Given the description of an element on the screen output the (x, y) to click on. 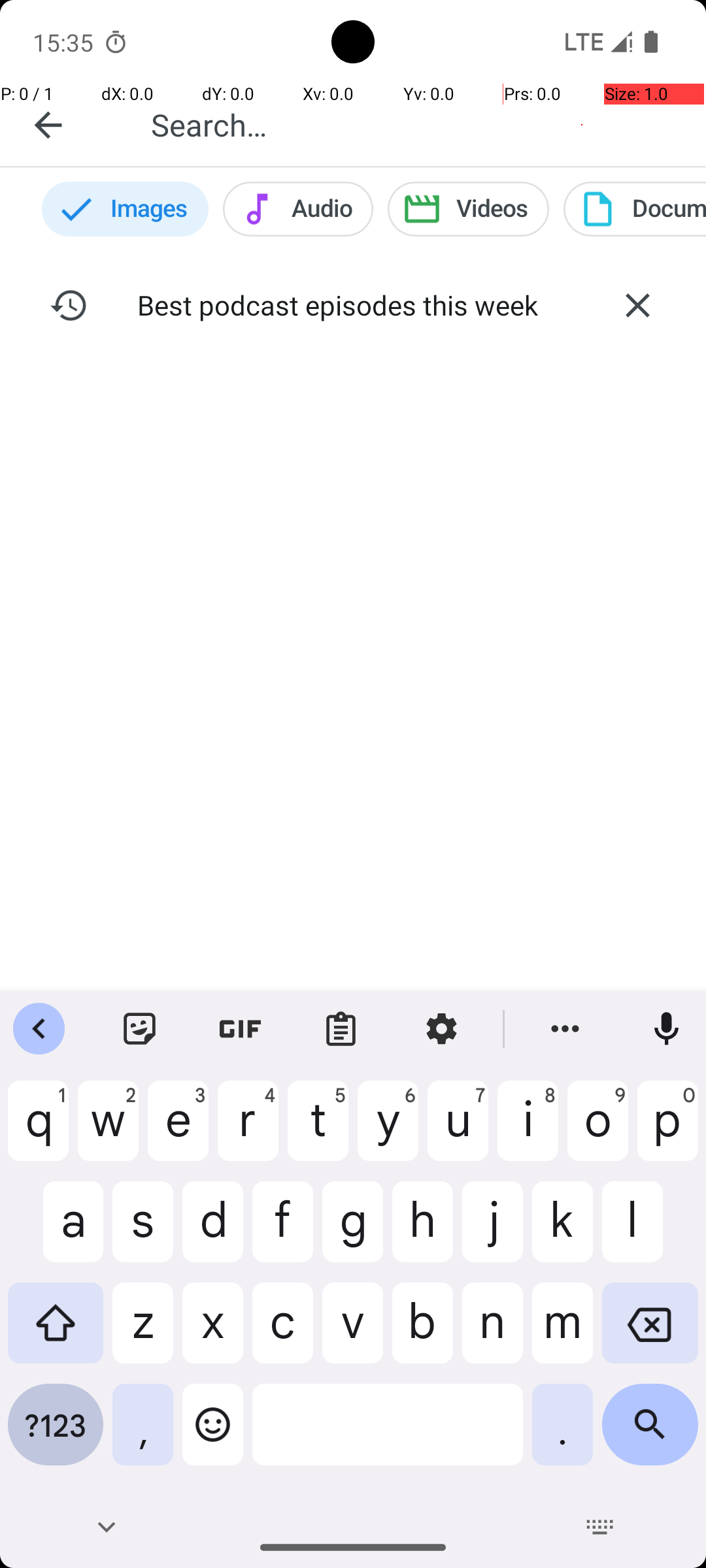
Best podcast episodes this week Element type: android.widget.TextView (352, 304)
Delete search history Best podcast episodes this week Element type: android.widget.ImageView (637, 304)
